Given the description of an element on the screen output the (x, y) to click on. 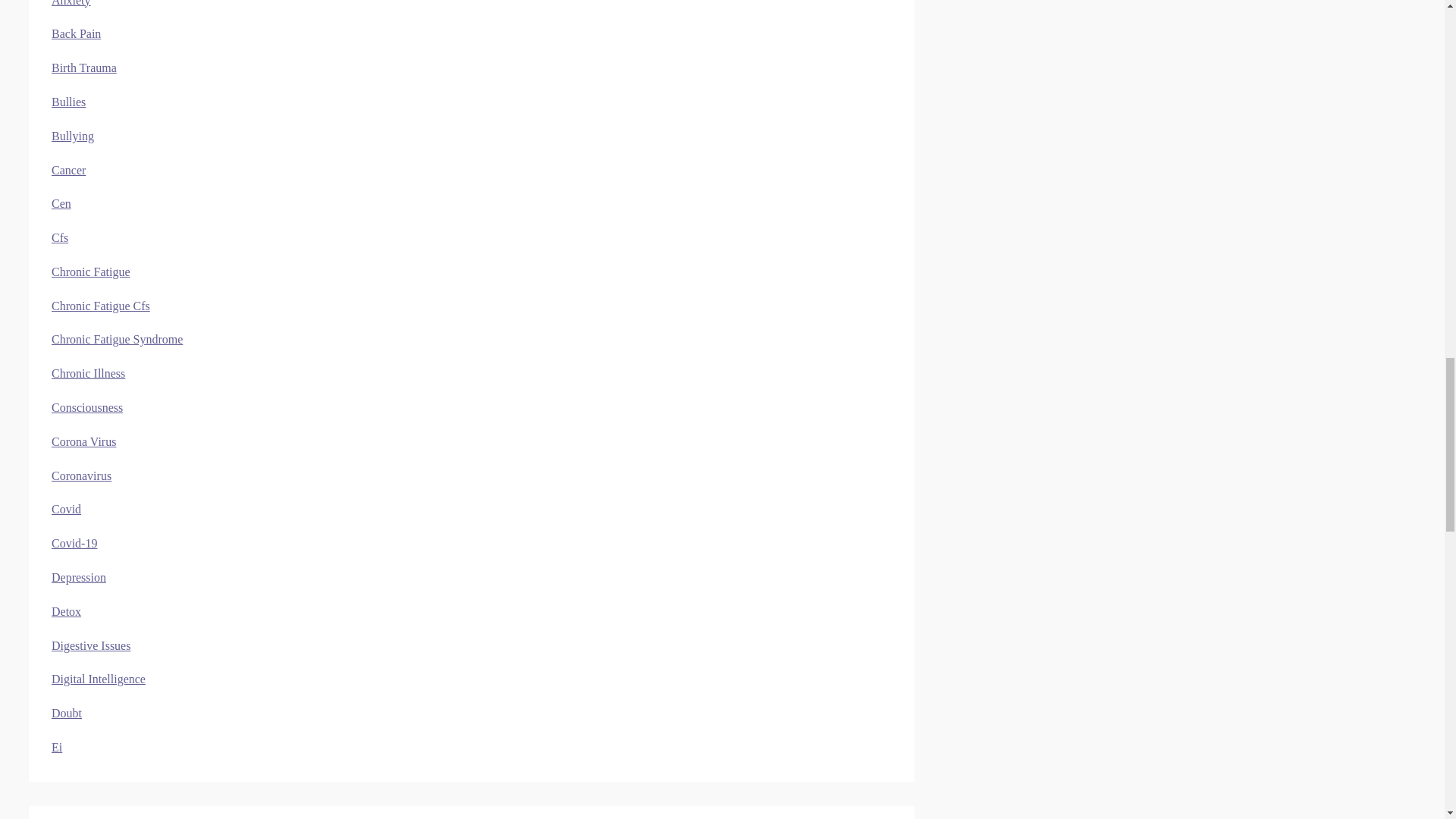
Detox (65, 611)
Cancer (67, 169)
Cfs (59, 237)
Anxiety (70, 3)
Consciousness (86, 407)
Chronic Fatigue Cfs (99, 305)
Bullies (67, 101)
Back Pain (75, 33)
Coronavirus (81, 475)
Depression (78, 576)
Chronic Illness (87, 373)
Covid (65, 508)
Corona Virus (83, 440)
Chronic Fatigue Syndrome (116, 338)
Chronic Fatigue (90, 271)
